Given the description of an element on the screen output the (x, y) to click on. 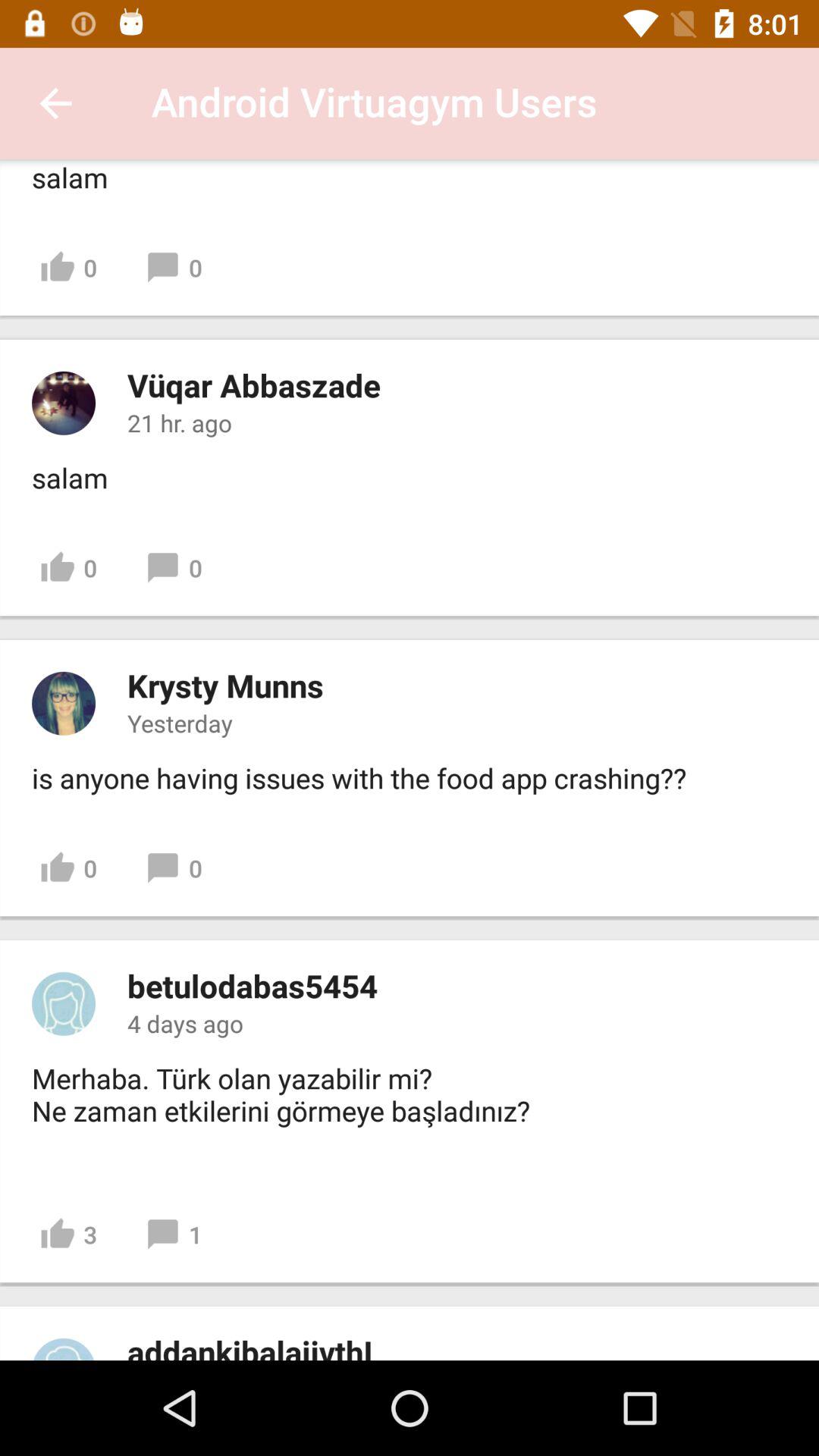
go to profile (63, 703)
